Given the description of an element on the screen output the (x, y) to click on. 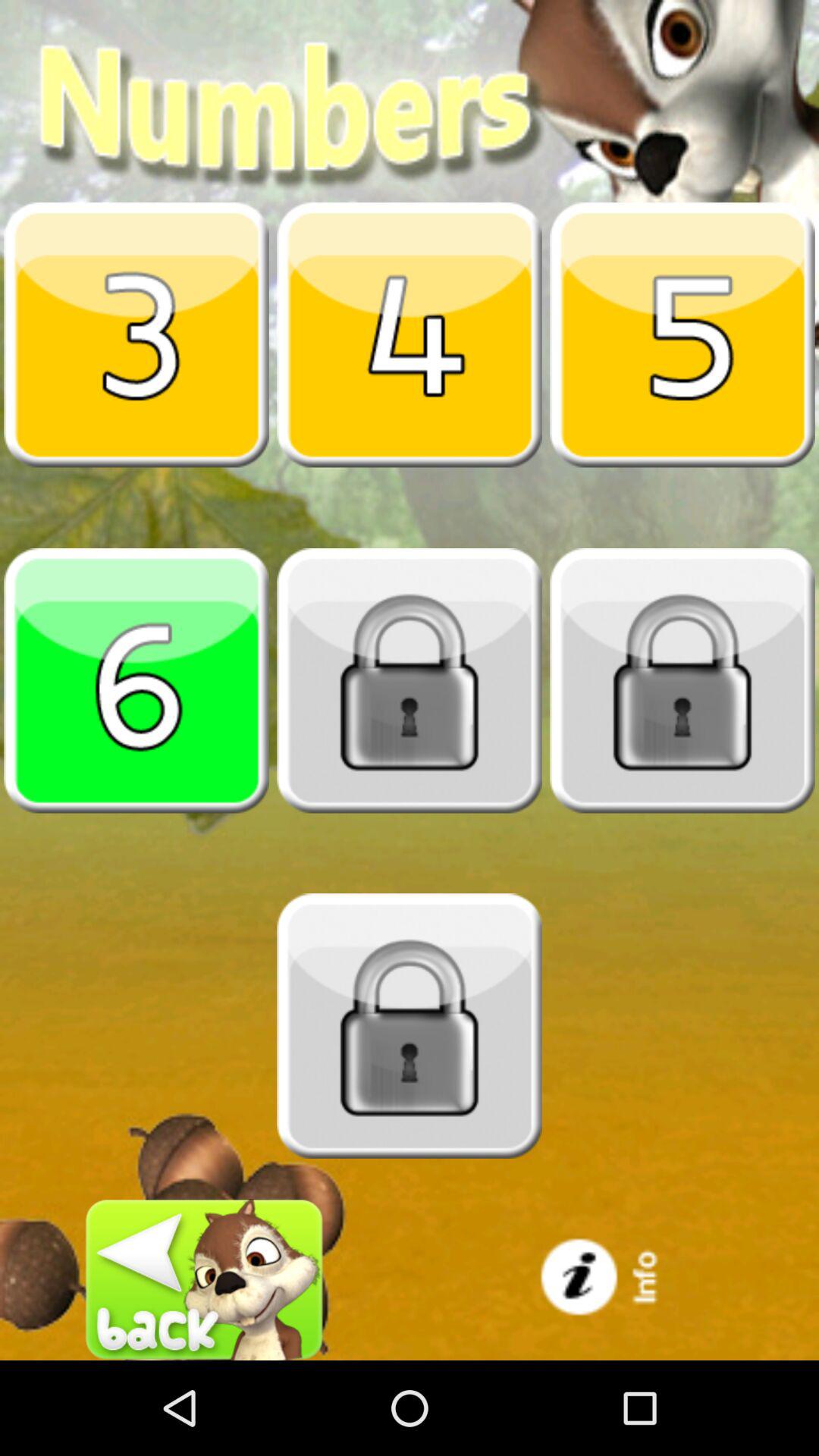
go back (204, 1279)
